Given the description of an element on the screen output the (x, y) to click on. 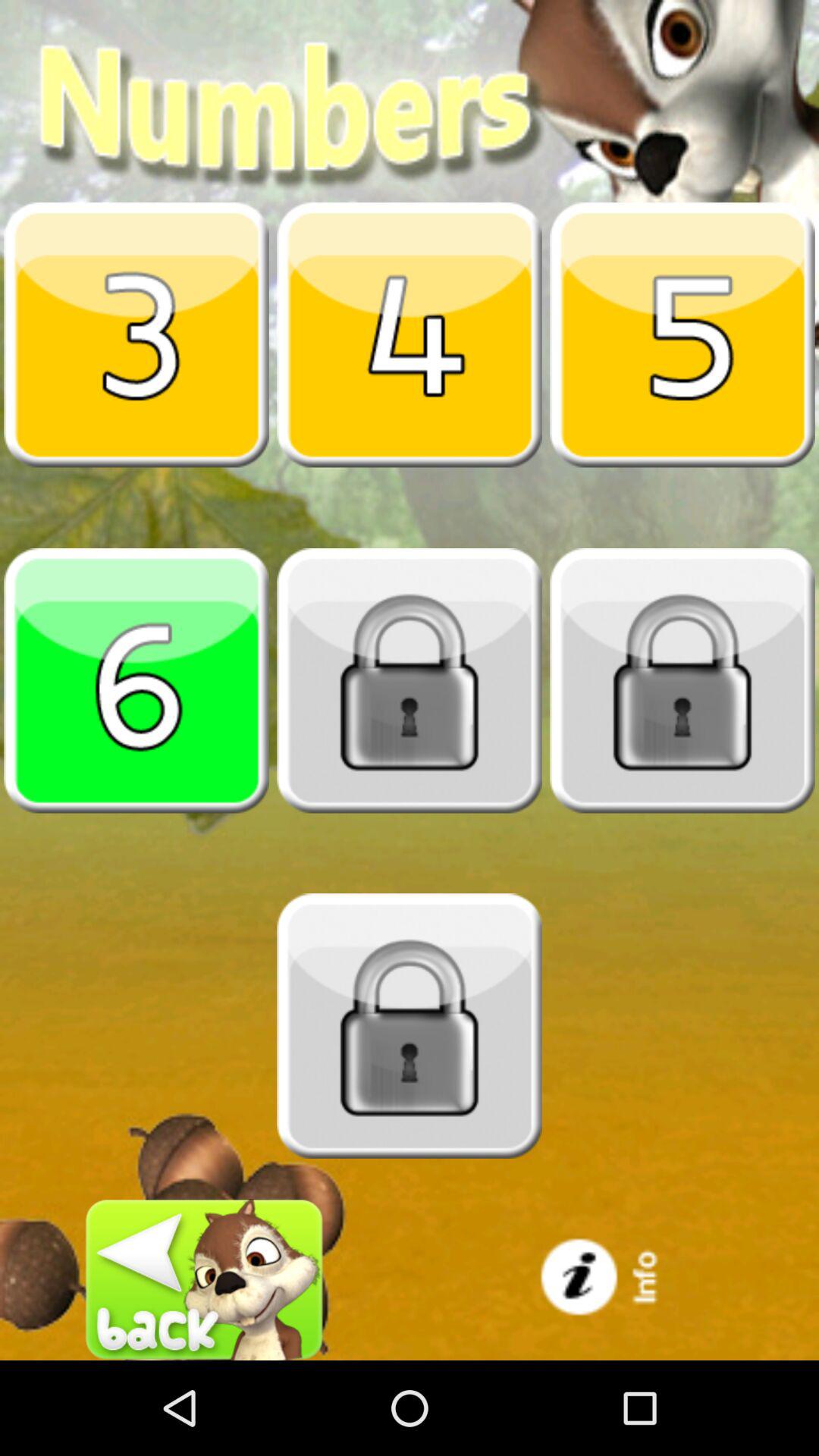
go back (204, 1279)
